Given the description of an element on the screen output the (x, y) to click on. 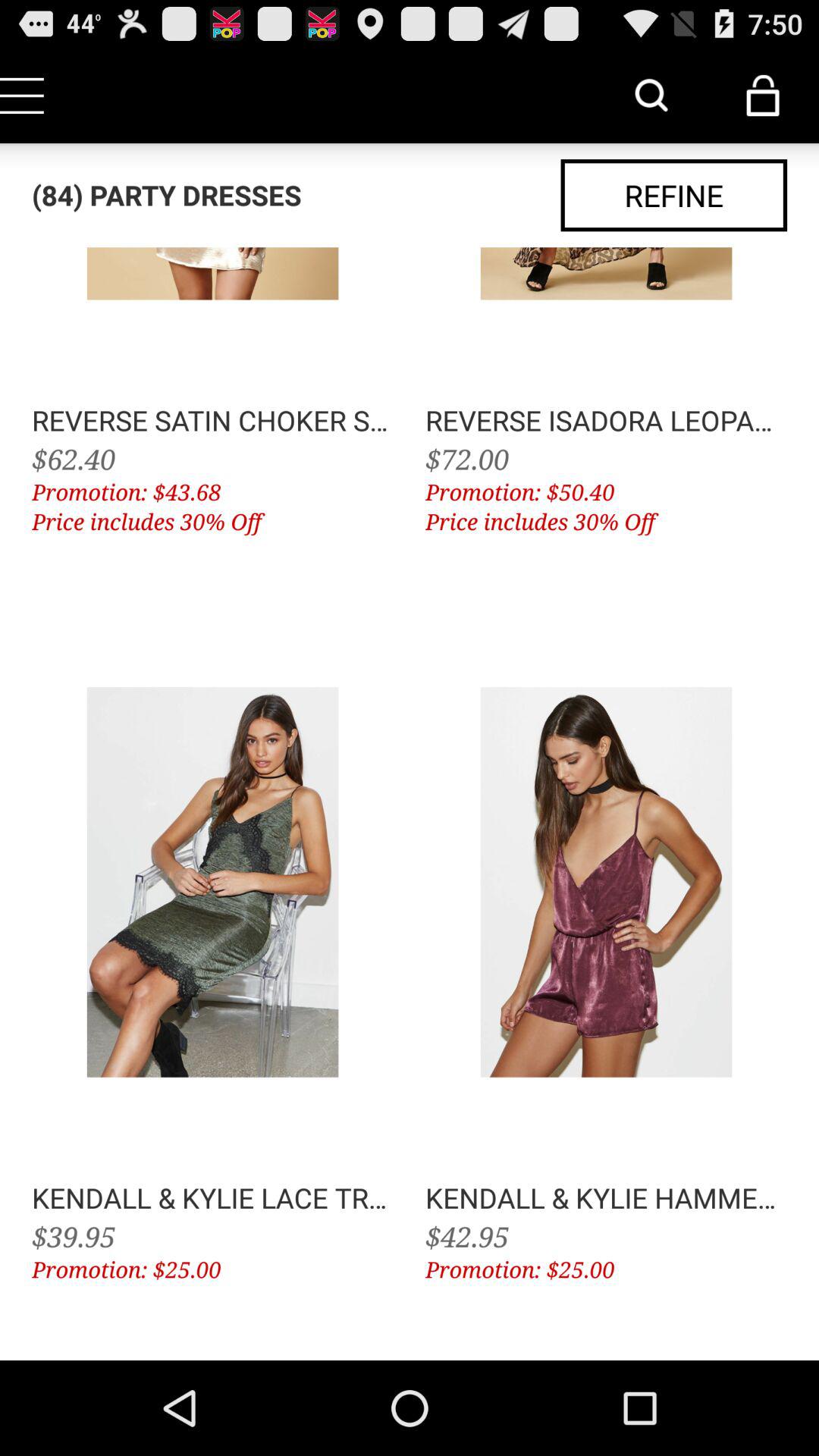
launch the icon above the refine (651, 95)
